Given the description of an element on the screen output the (x, y) to click on. 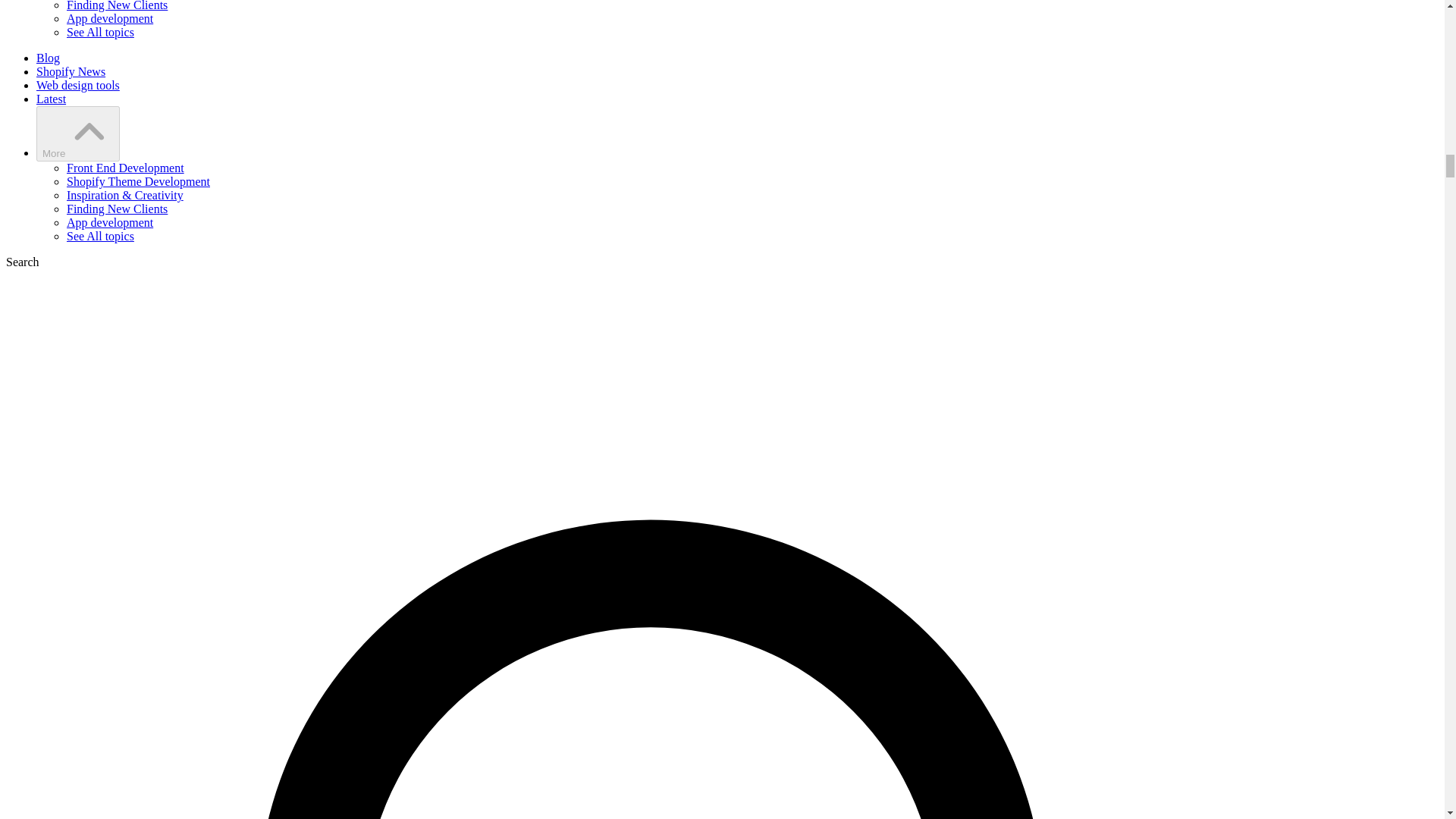
Finding New Clients (116, 5)
Shopify News (70, 71)
Blog (47, 57)
See All topics (99, 31)
Web design tools (77, 84)
Finding New Clients (116, 208)
See All topics (99, 236)
Front End Development (125, 167)
Latest (50, 98)
App development (109, 18)
Shopify Theme Development (137, 181)
More (77, 133)
App development (109, 222)
